Given the description of an element on the screen output the (x, y) to click on. 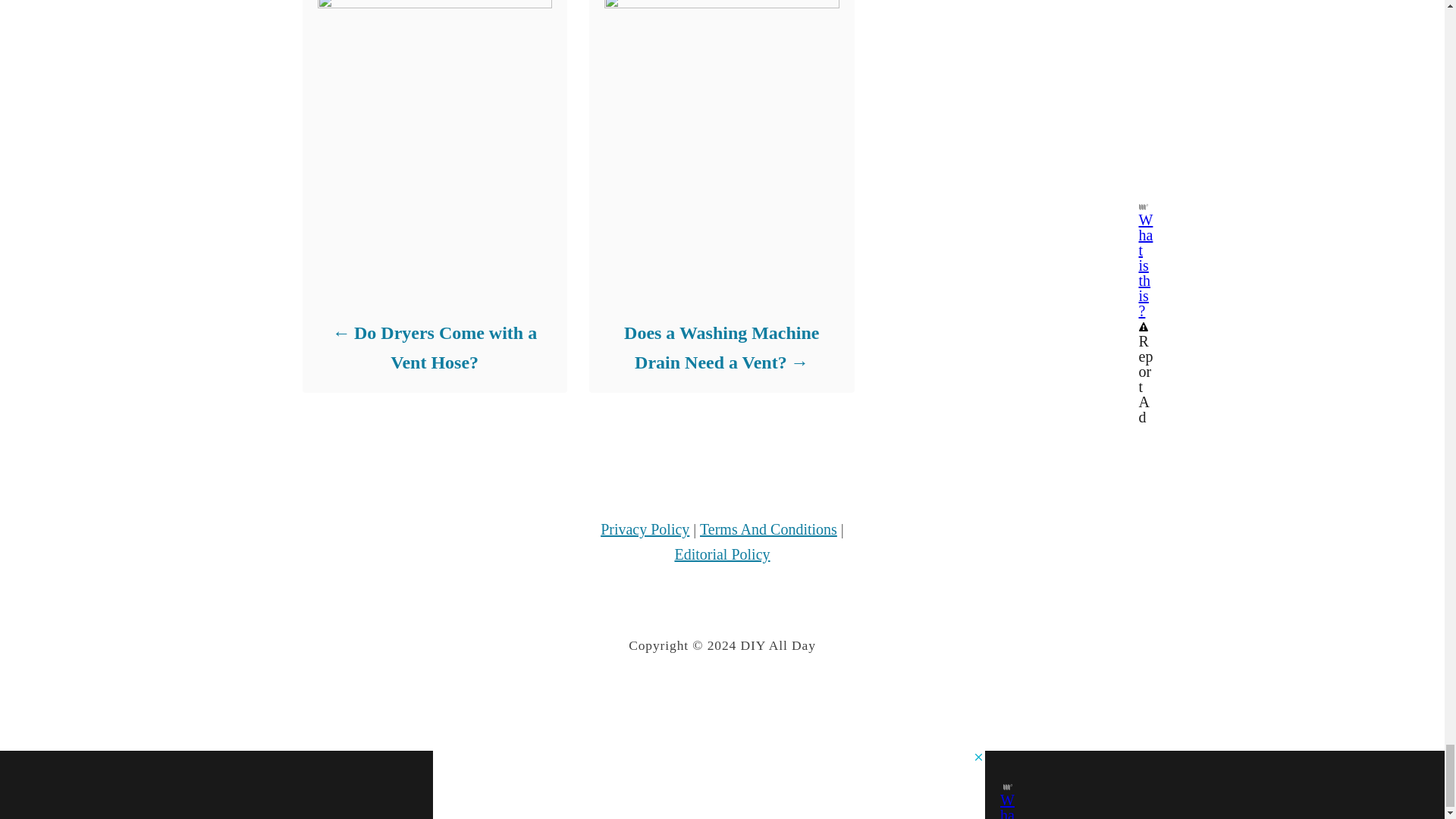
Does a Washing Machine Drain Need a Vent? (721, 347)
Do Dryers Come with a Vent Hose? (434, 347)
